Given the description of an element on the screen output the (x, y) to click on. 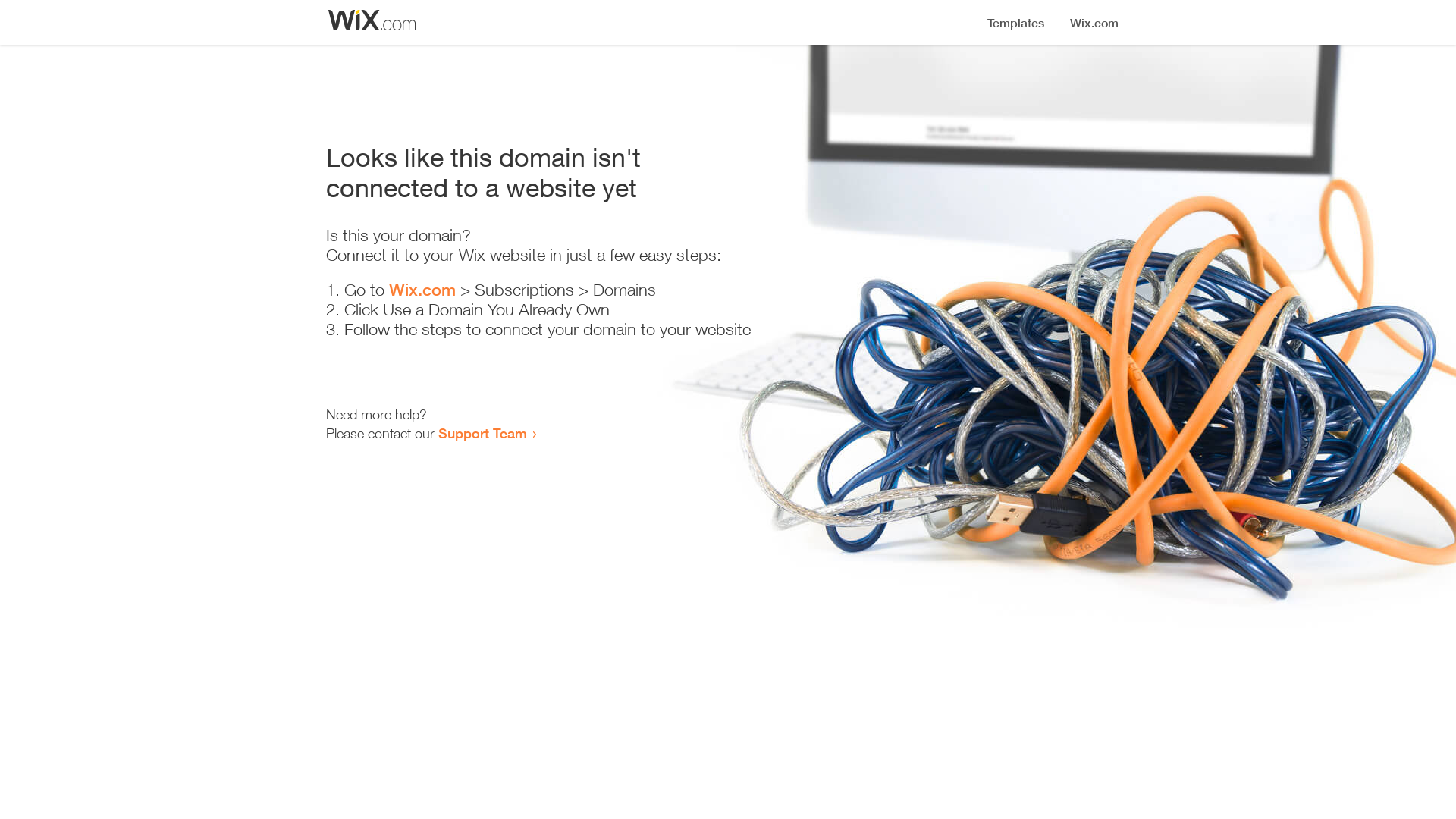
Support Team Element type: text (482, 432)
Wix.com Element type: text (422, 289)
